Given the description of an element on the screen output the (x, y) to click on. 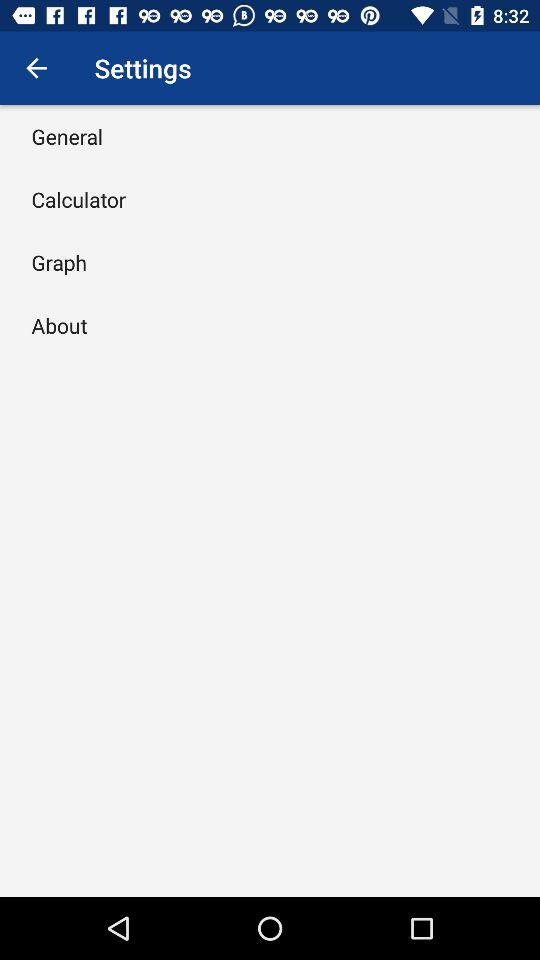
select the icon above the graph (78, 199)
